Given the description of an element on the screen output the (x, y) to click on. 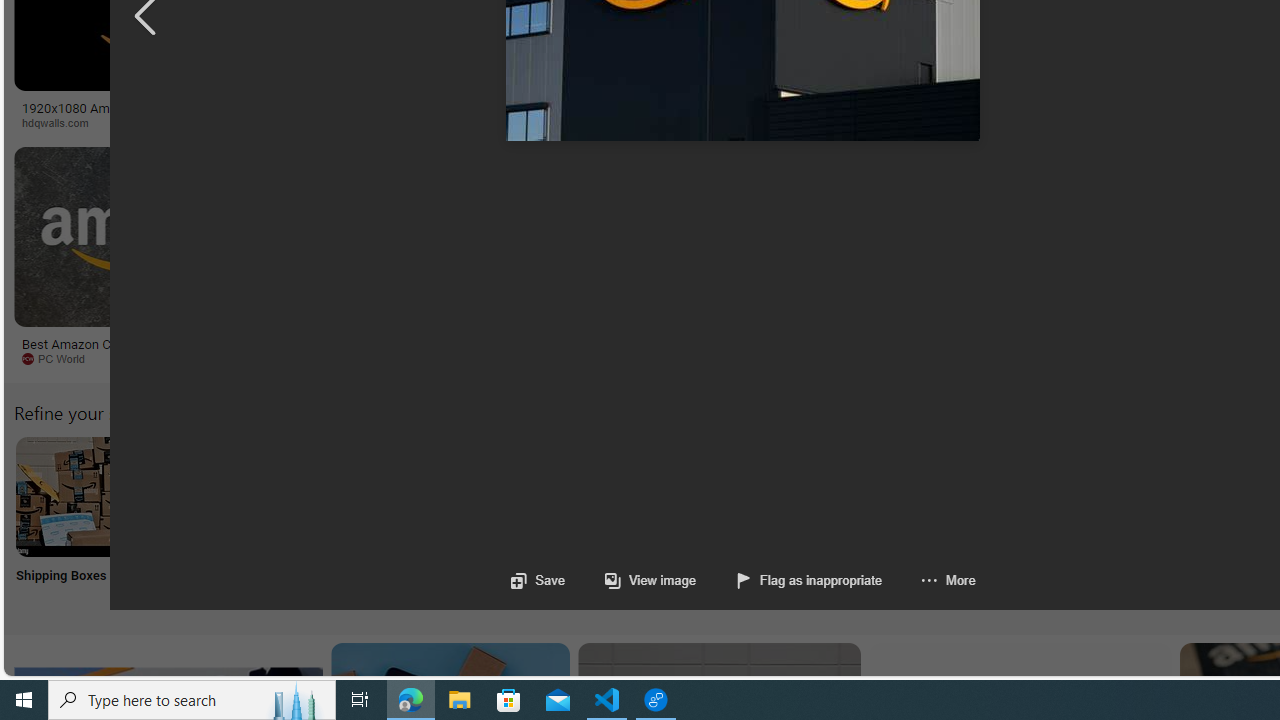
thewrap.com (826, 358)
hdqwalls.com (167, 123)
Long Island Press (1105, 123)
Amazon Wish List Wish List (999, 521)
Online Shopping Search (207, 521)
Amazon Wish List (999, 496)
Amazon Clip Art (339, 496)
Best Amazon Cyber Monday deals 2019 | PCWorld (146, 350)
aiophotoz.com (611, 358)
Flag as inappropriate (809, 580)
thewrap.com (937, 359)
aiophotoz.com (666, 359)
